Given the description of an element on the screen output the (x, y) to click on. 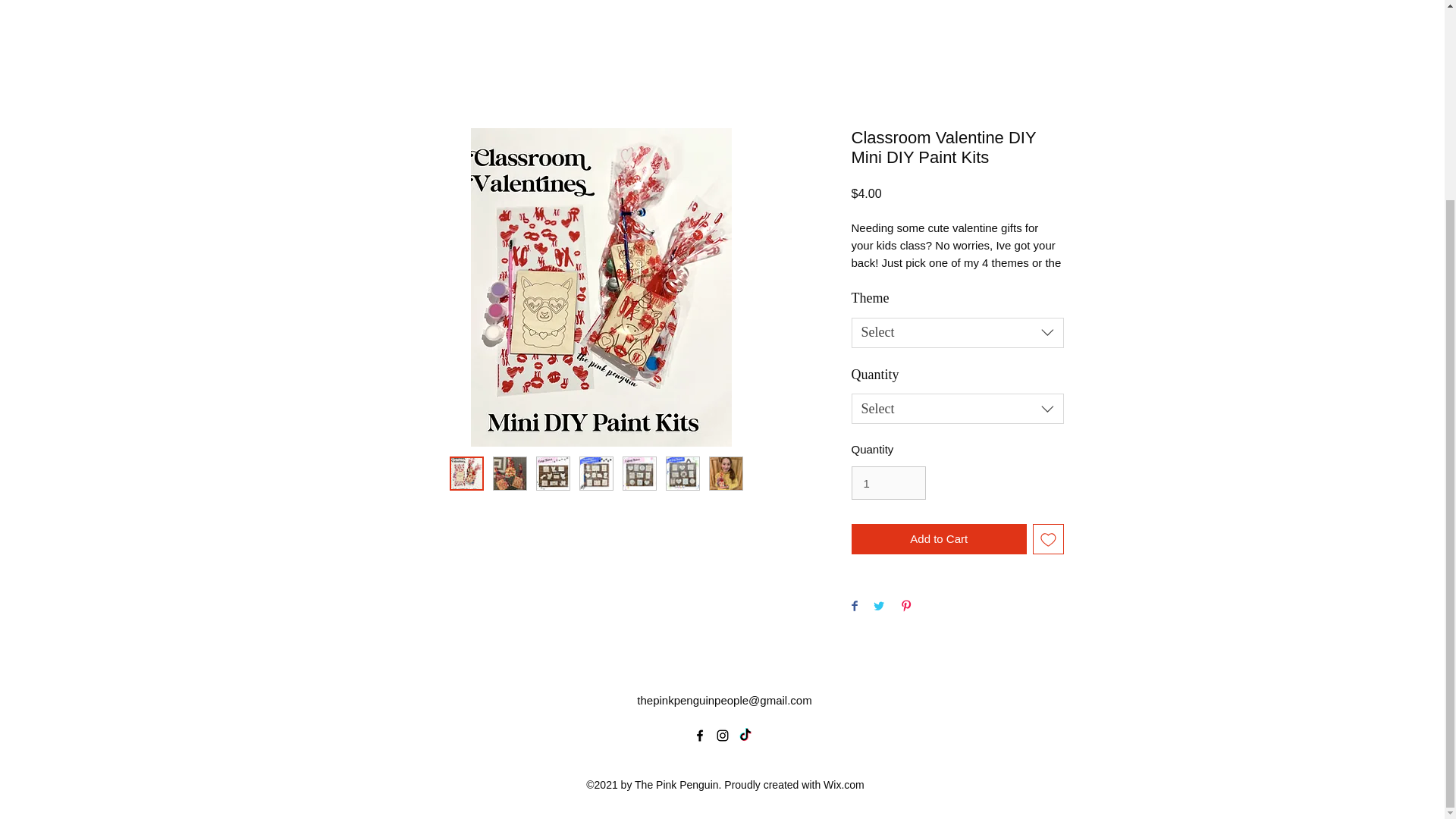
Select (956, 408)
1 (887, 482)
Add to Cart (938, 539)
Select (956, 332)
